Given the description of an element on the screen output the (x, y) to click on. 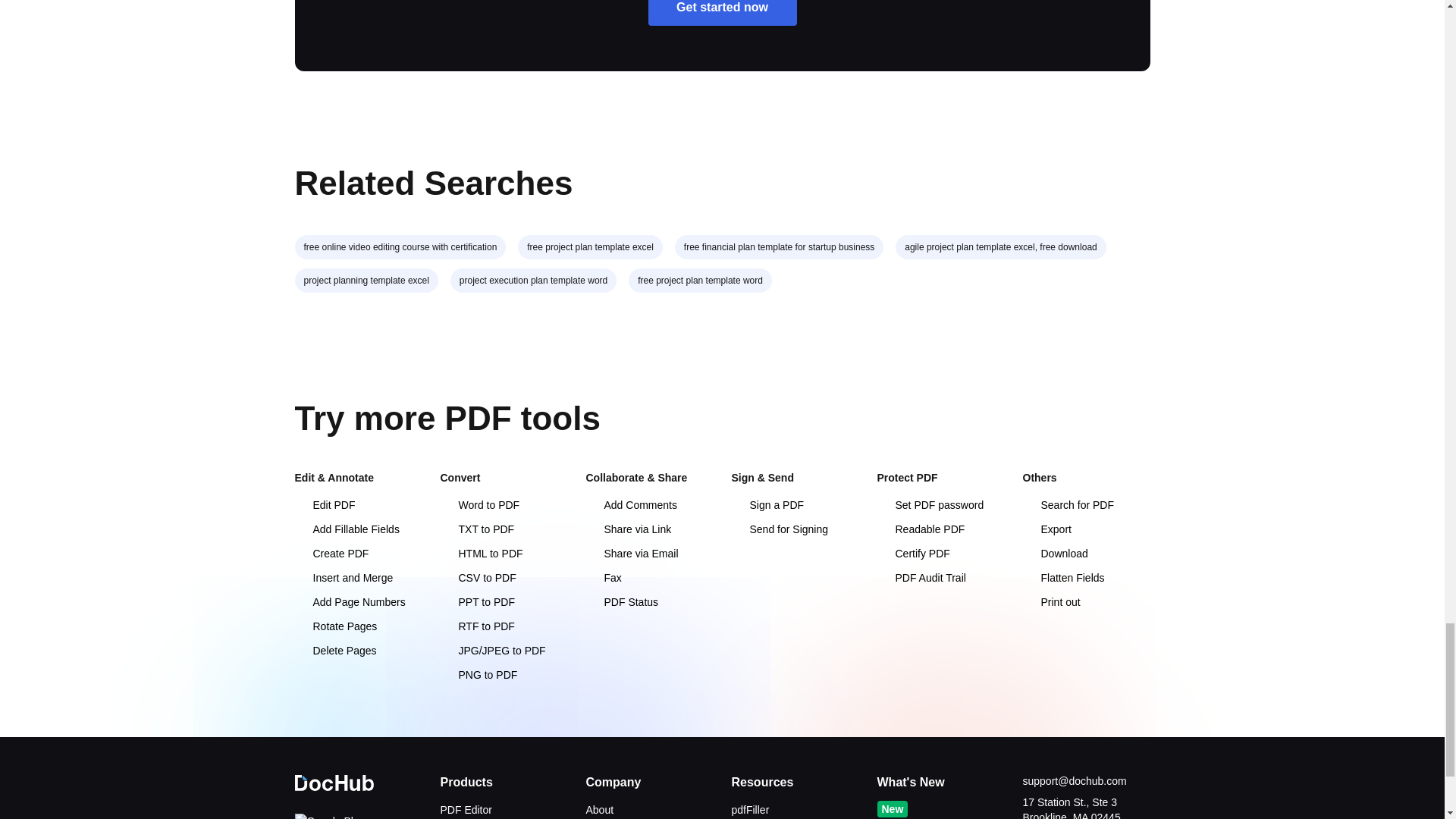
PPT to PDF (476, 602)
Add Comments (631, 504)
Add Fillable Fields (346, 529)
TXT to PDF (476, 529)
Add Page Numbers (349, 602)
Fax (603, 577)
Get started now (721, 12)
Send for Signing (779, 529)
CSV to PDF (477, 577)
Delete Pages (334, 650)
Sign a PDF (766, 504)
HTML to PDF (480, 553)
RTF to PDF (476, 625)
Rotate Pages (335, 625)
Share via Email (631, 553)
